Given the description of an element on the screen output the (x, y) to click on. 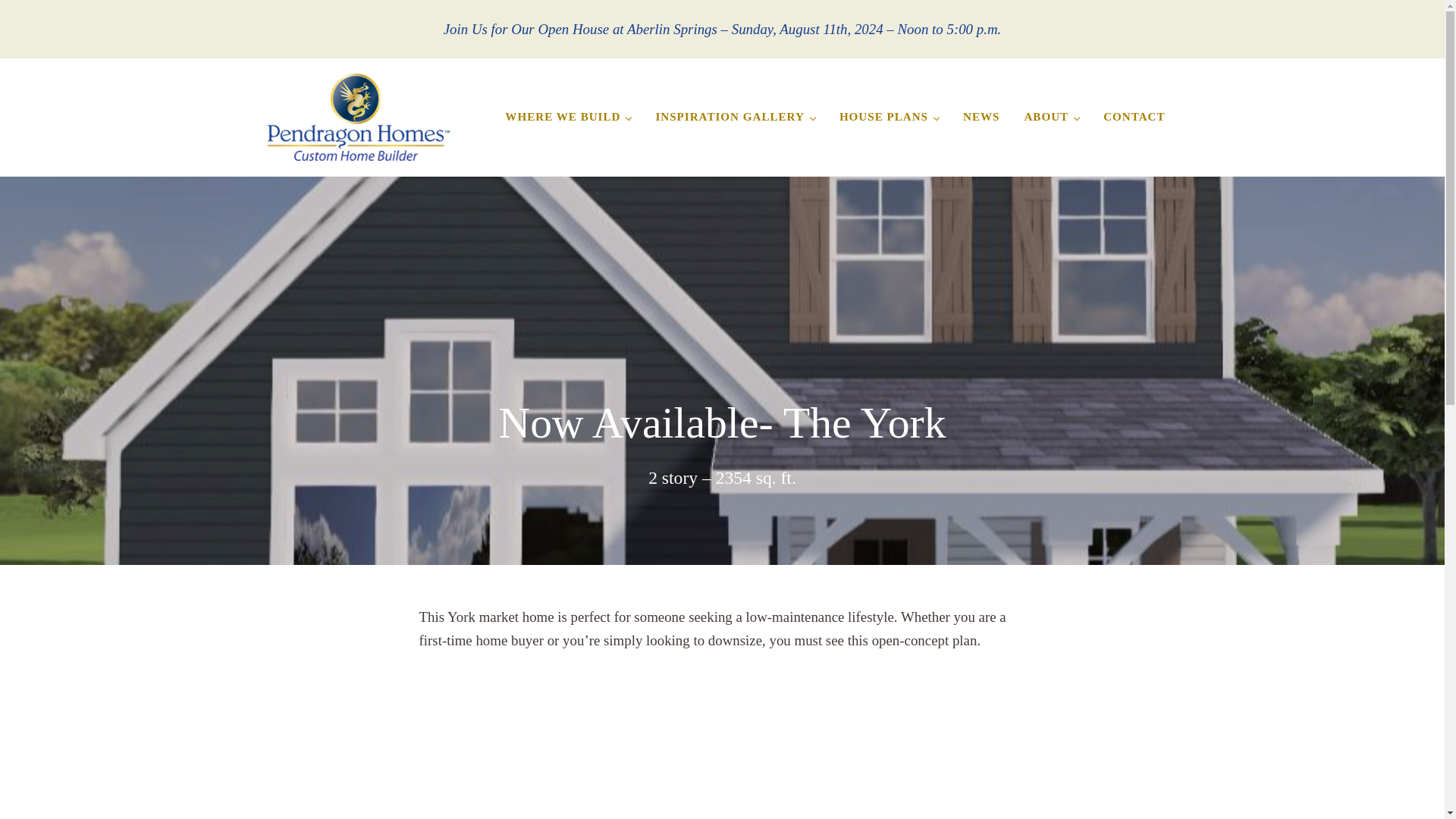
HOUSE PLANS (888, 116)
CONTACT (1133, 116)
INSPIRATION GALLERY (735, 116)
YouTube video player (631, 741)
ABOUT (1050, 116)
NEWS (980, 116)
WHERE WE BUILD (568, 116)
